Given the description of an element on the screen output the (x, y) to click on. 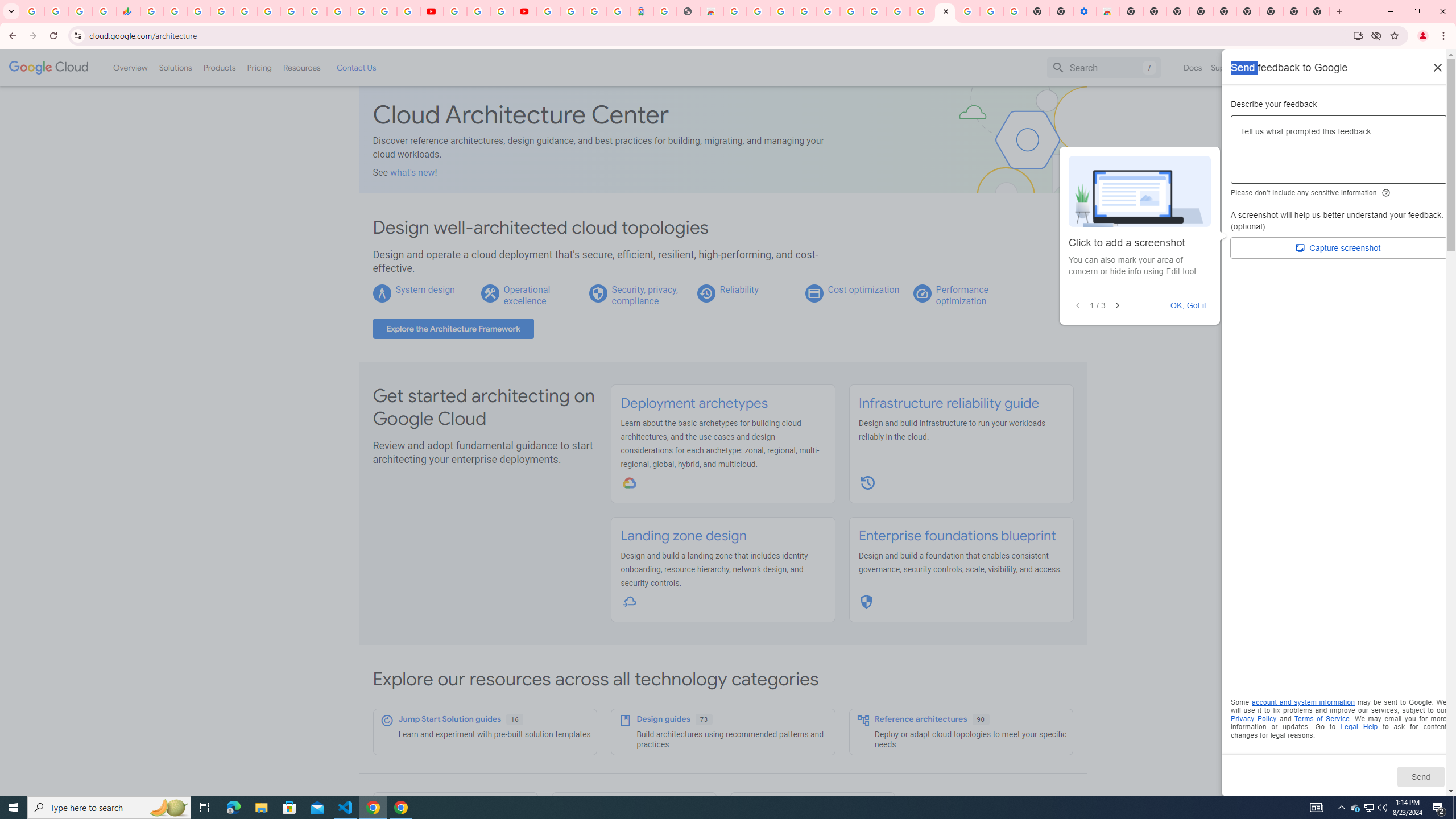
Create your Google Account (501, 11)
OK, Got it (1188, 305)
Google Account Help (850, 11)
Docs (1192, 67)
Sign in - Google Accounts (338, 11)
Atour Hotel - Google hotels (641, 11)
Sign in - Google Accounts (968, 11)
